Given the description of an element on the screen output the (x, y) to click on. 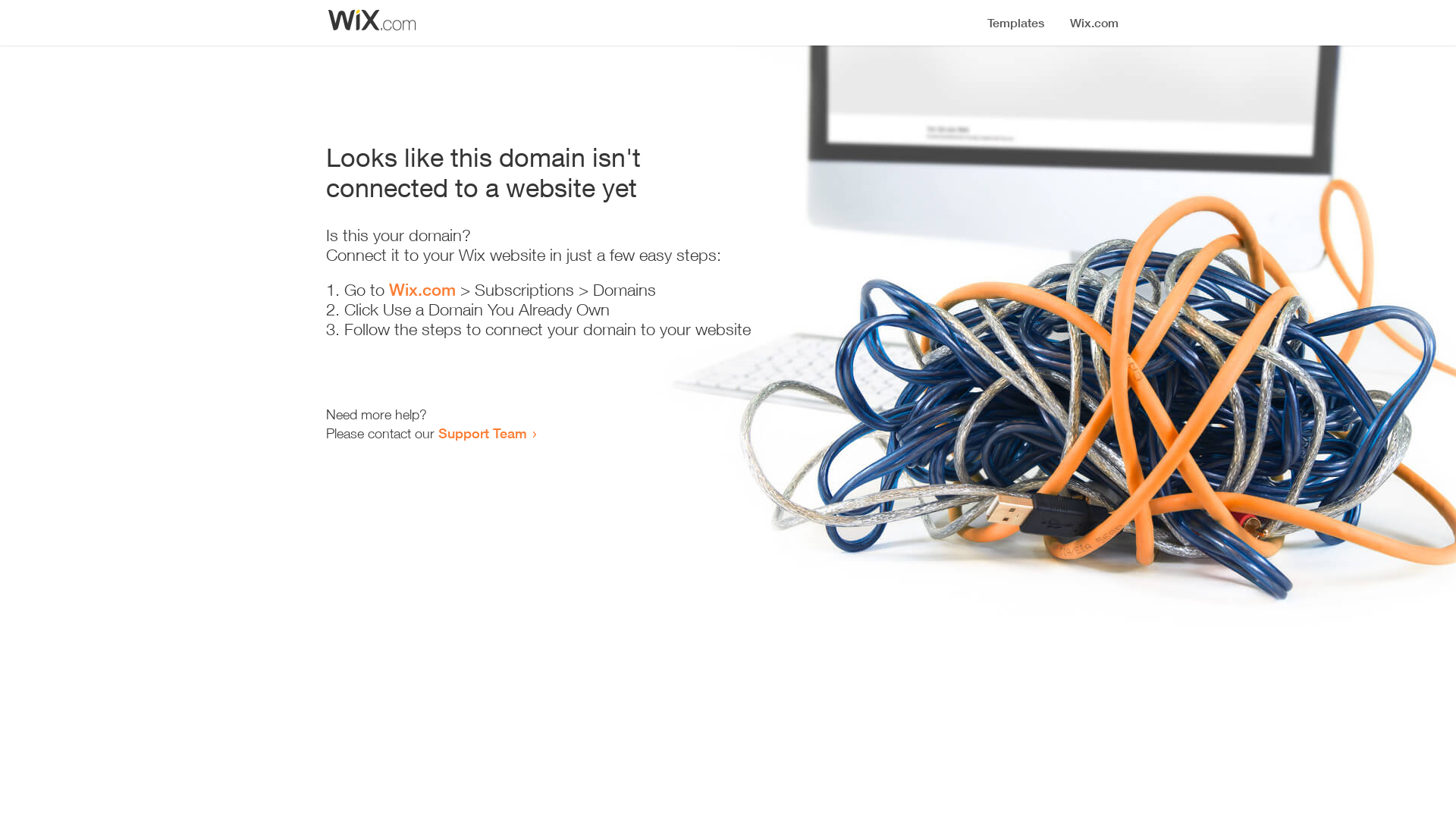
Support Team Element type: text (482, 432)
Wix.com Element type: text (422, 289)
